Given the description of an element on the screen output the (x, y) to click on. 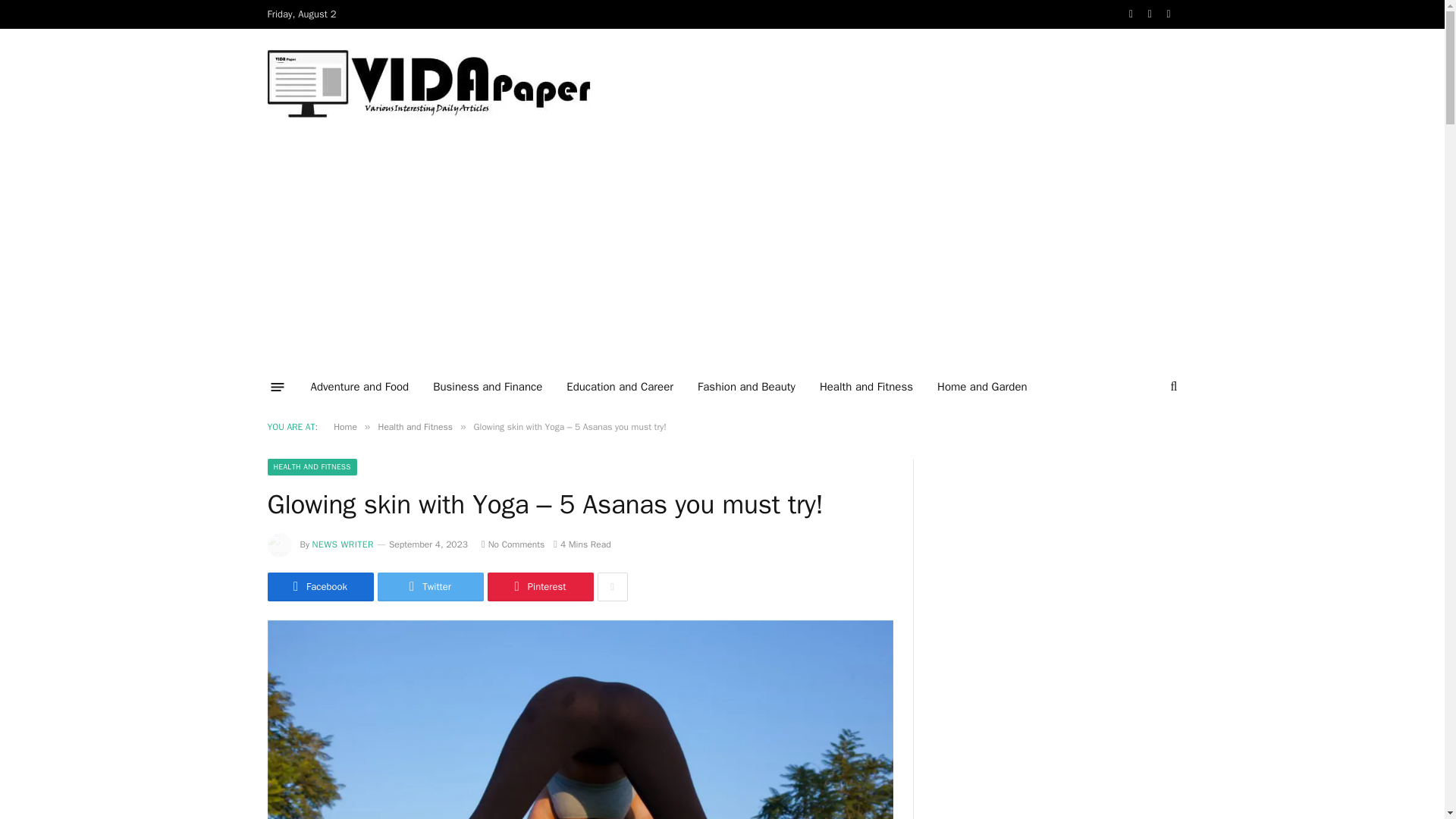
Fashion and Beauty (746, 386)
Twitter (430, 586)
No Comments (512, 544)
Business and Finance (487, 386)
Home (344, 426)
Home and Garden (981, 386)
Share on Facebook (319, 586)
VidaPaper (427, 84)
Education and Career (619, 386)
